Given the description of an element on the screen output the (x, y) to click on. 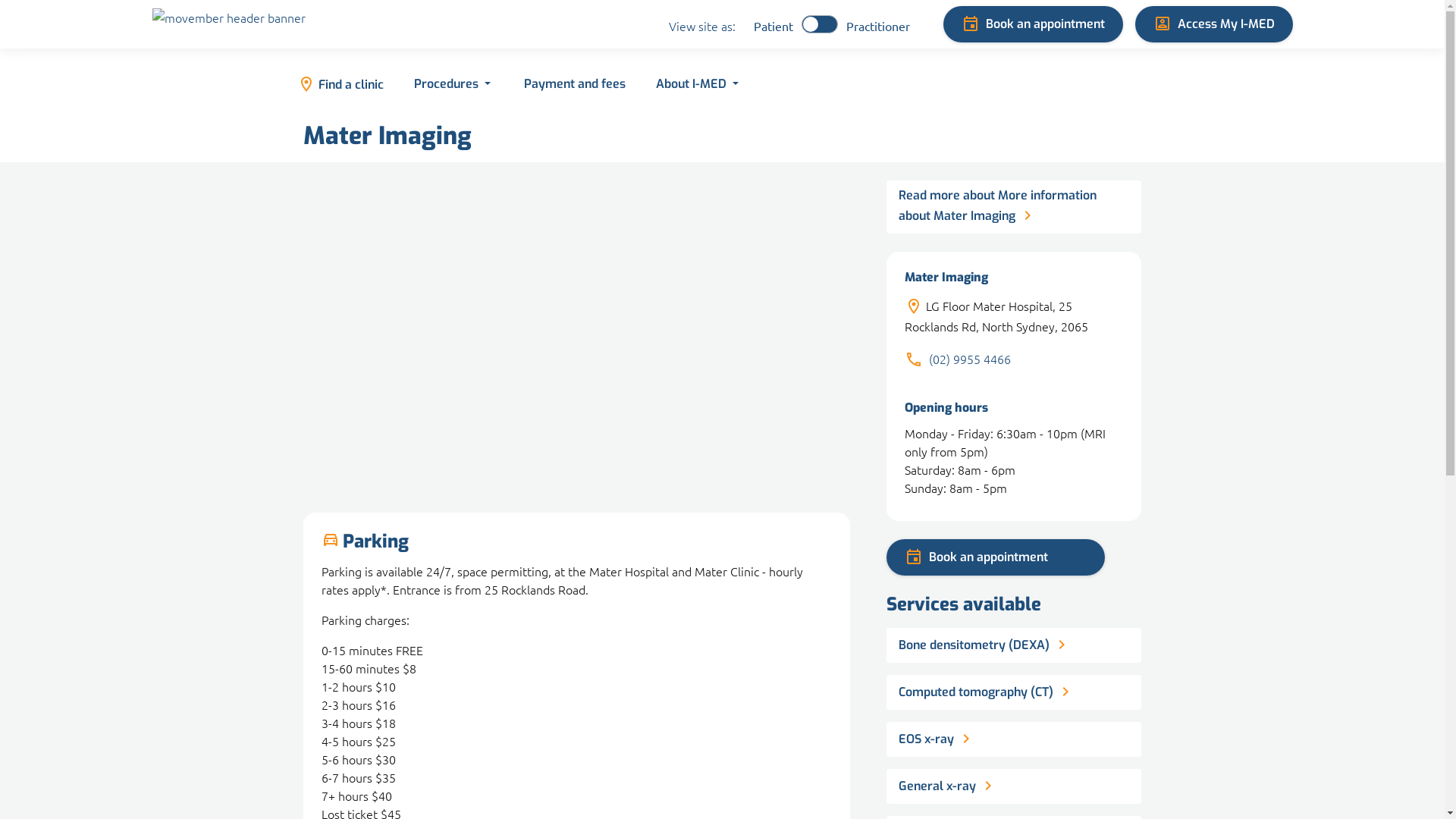
About I-MED Element type: text (696, 84)
Payment and fees Element type: text (572, 84)
Book an appointment Element type: text (1033, 24)
EOS x-ray Element type: text (1014, 744)
(02) 9955 4466 Element type: text (969, 358)
Find a clinic Element type: text (340, 84)
Computed tomography (CT) Element type: text (1014, 697)
Read more about More information about Mater Imaging Element type: text (1014, 206)
Book an appointment Element type: text (995, 557)
General x-ray Element type: text (1014, 785)
Access My I-MED Element type: text (1213, 24)
Computed tomography (CT) Element type: text (1014, 691)
EOS x-ray Element type: text (1014, 738)
General x-ray Element type: text (1014, 791)
Bone densitometry (DEXA) Element type: text (1014, 644)
Access My I-MED Element type: text (1213, 24)
Procedures Element type: text (451, 84)
Bone densitometry (DEXA) Element type: text (1014, 650)
